Given the description of an element on the screen output the (x, y) to click on. 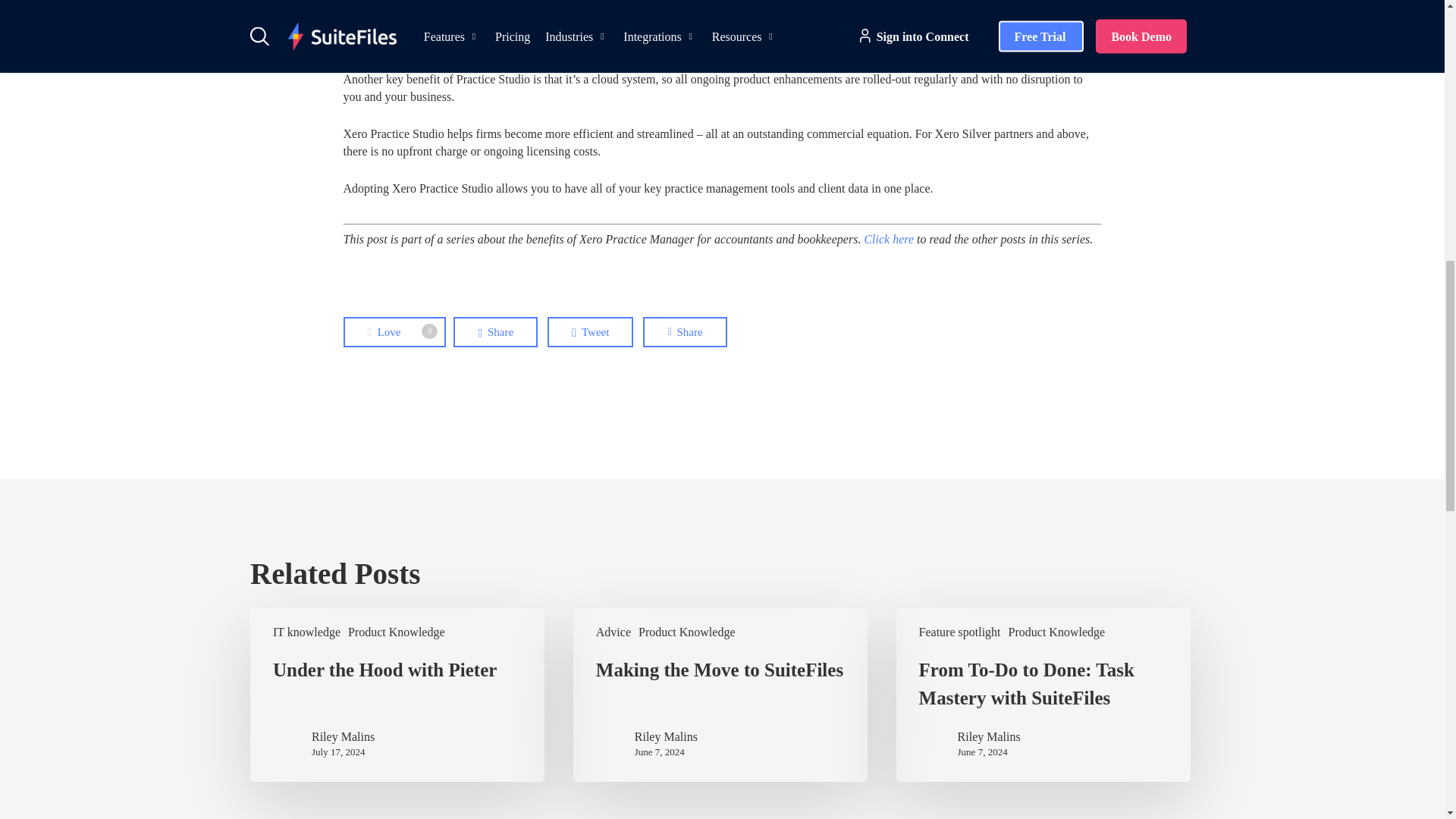
Share this (494, 331)
Tweet this (590, 331)
Share this (684, 331)
Love this (393, 332)
